Given the description of an element on the screen output the (x, y) to click on. 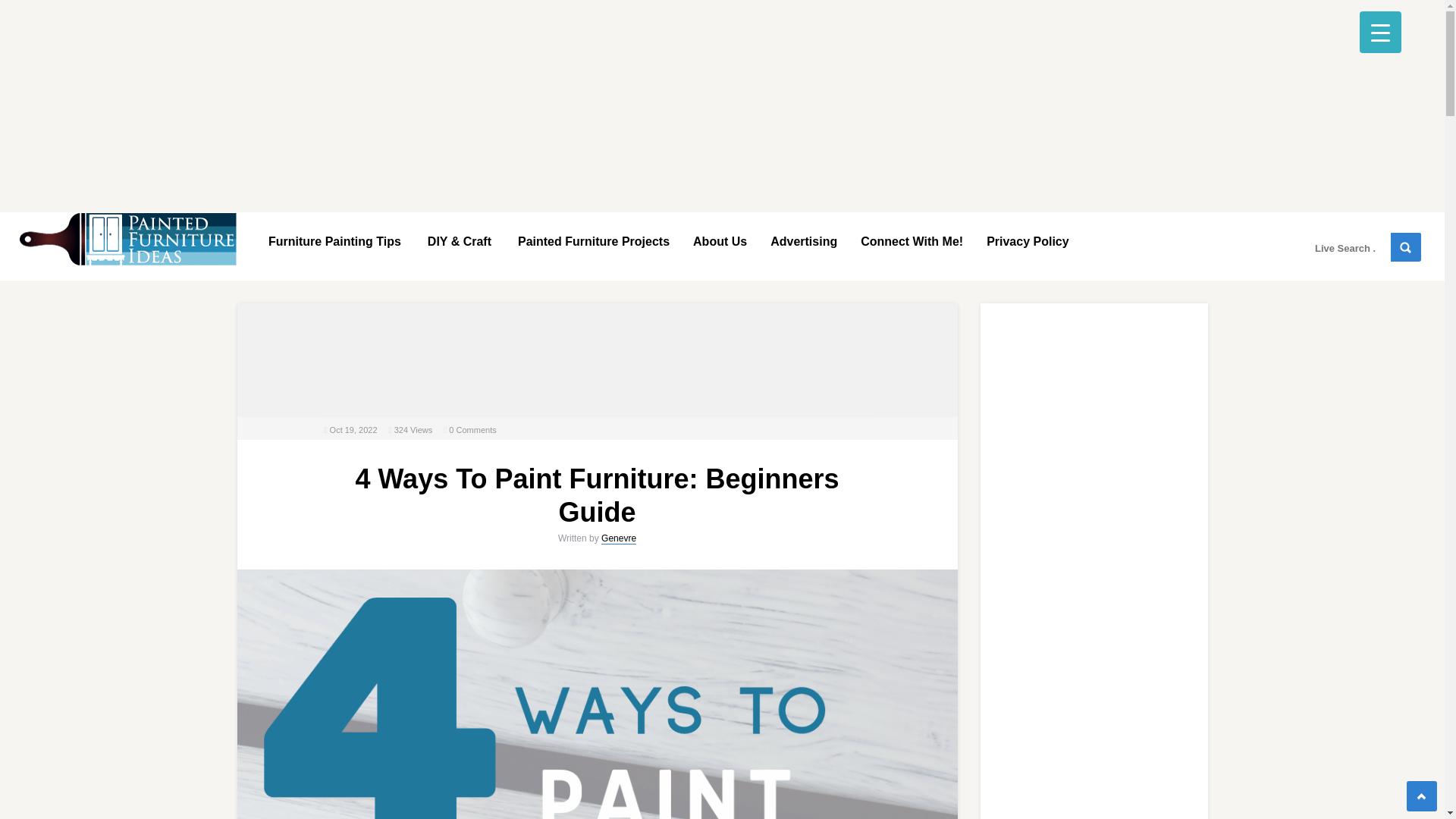
0 Comments (472, 429)
Search (1405, 246)
Painted Furniture Projects (591, 240)
Privacy Policy (1027, 240)
Furniture Painting Tips (333, 240)
About Us (719, 240)
Genevre (618, 538)
Posts by Genevre (618, 538)
Search (1405, 246)
Connect With Me! (911, 240)
